Given the description of an element on the screen output the (x, y) to click on. 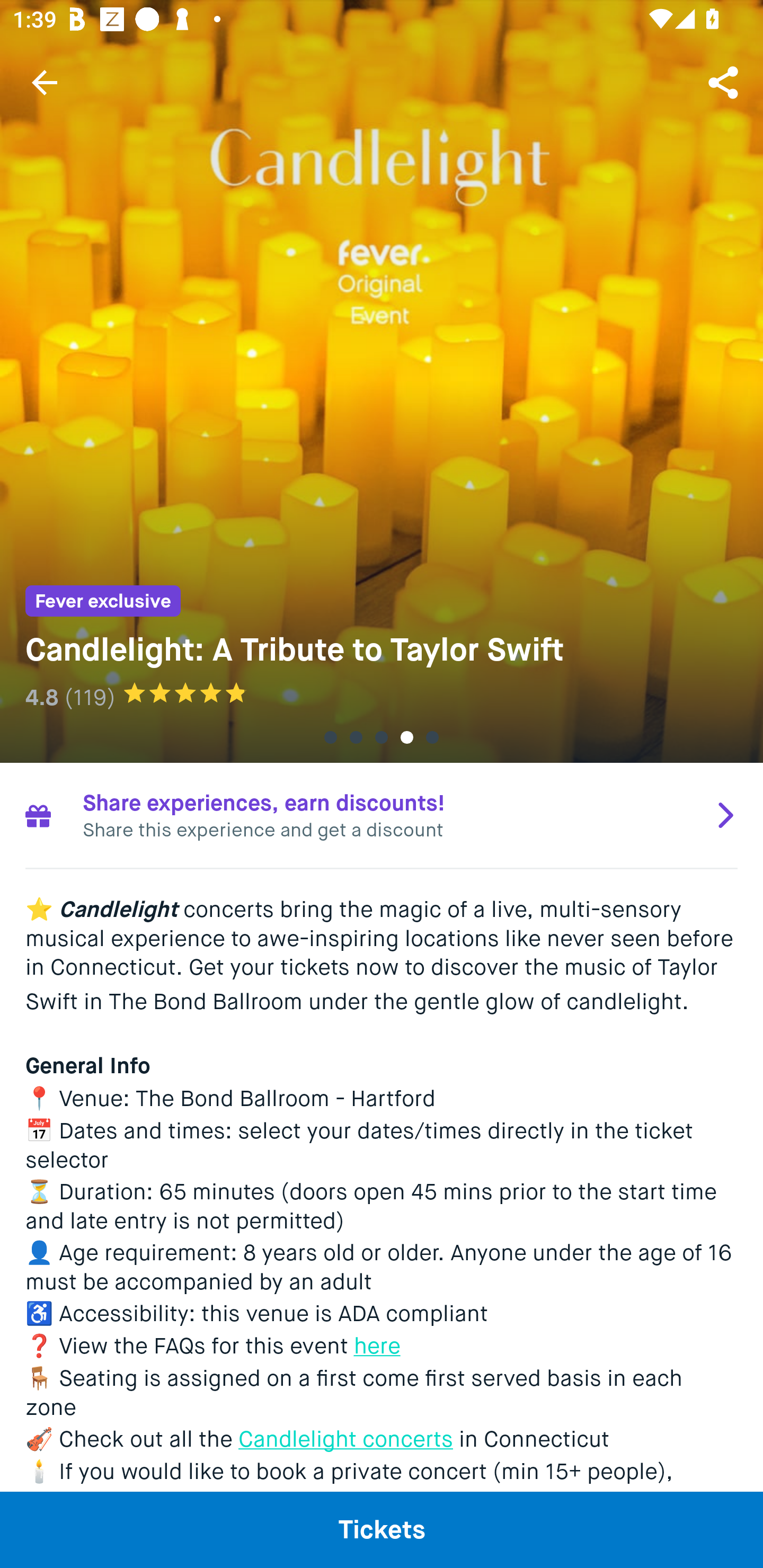
Navigate up (44, 82)
Share (724, 81)
(119) (89, 697)
Tickets (381, 1529)
